Given the description of an element on the screen output the (x, y) to click on. 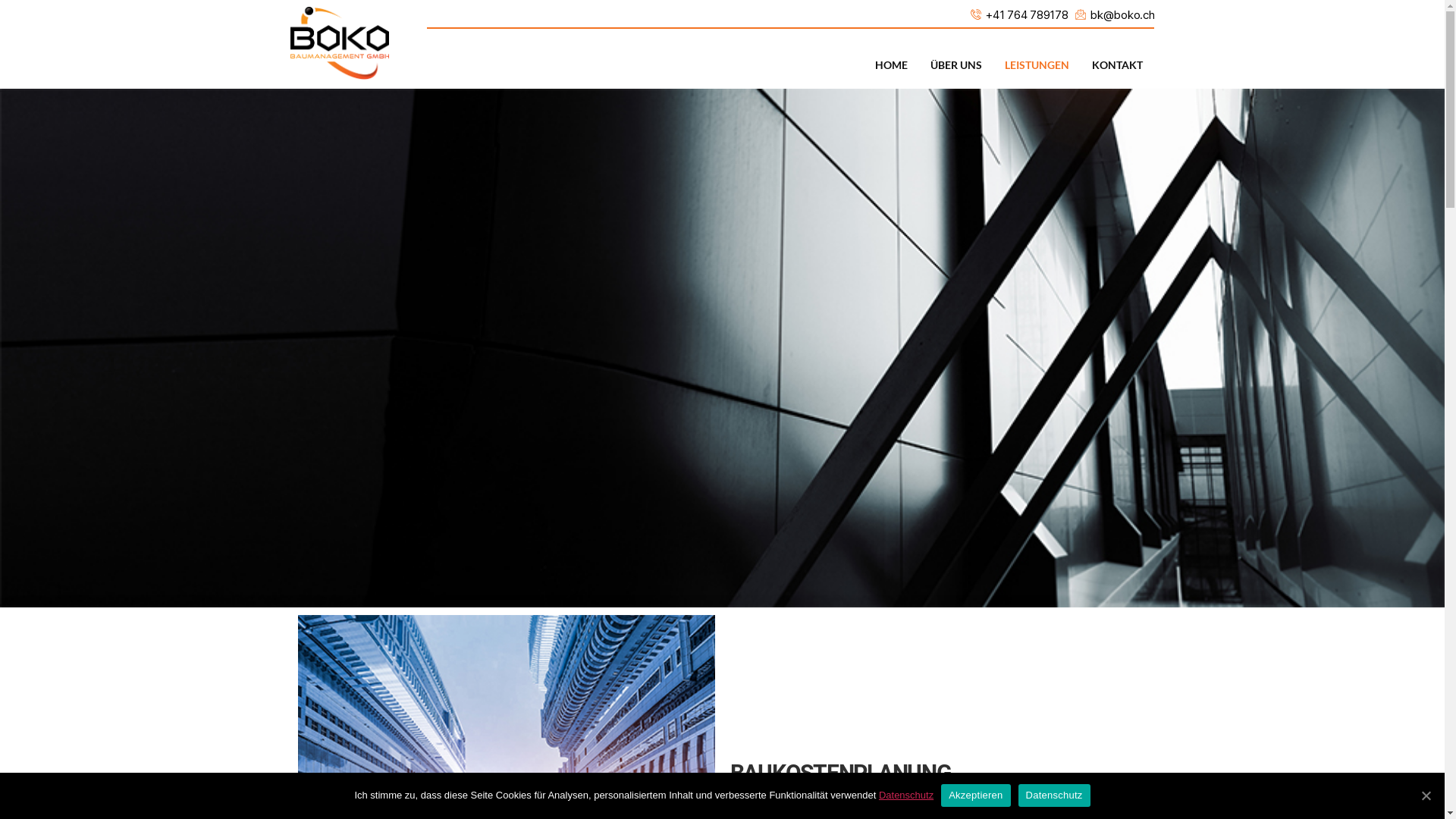
+41 764 789178 Element type: text (1018, 15)
Akzeptieren Element type: text (975, 795)
KONTAKT Element type: text (1117, 64)
HOME Element type: text (891, 64)
LEISTUNGEN Element type: text (1036, 64)
Datenschutz Element type: text (1054, 795)
Datenschutz Element type: text (905, 794)
bk@boko.ch Element type: text (1114, 15)
